Given the description of an element on the screen output the (x, y) to click on. 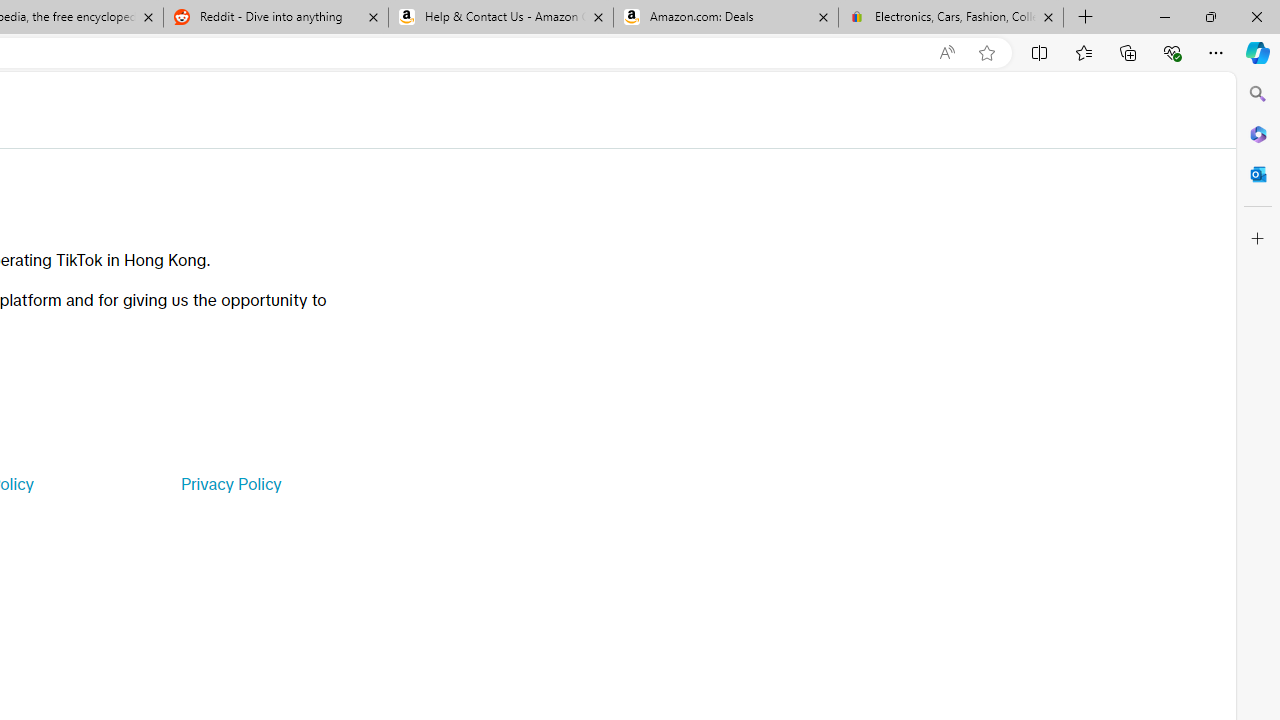
Privacy Policy (230, 484)
